Given the description of an element on the screen output the (x, y) to click on. 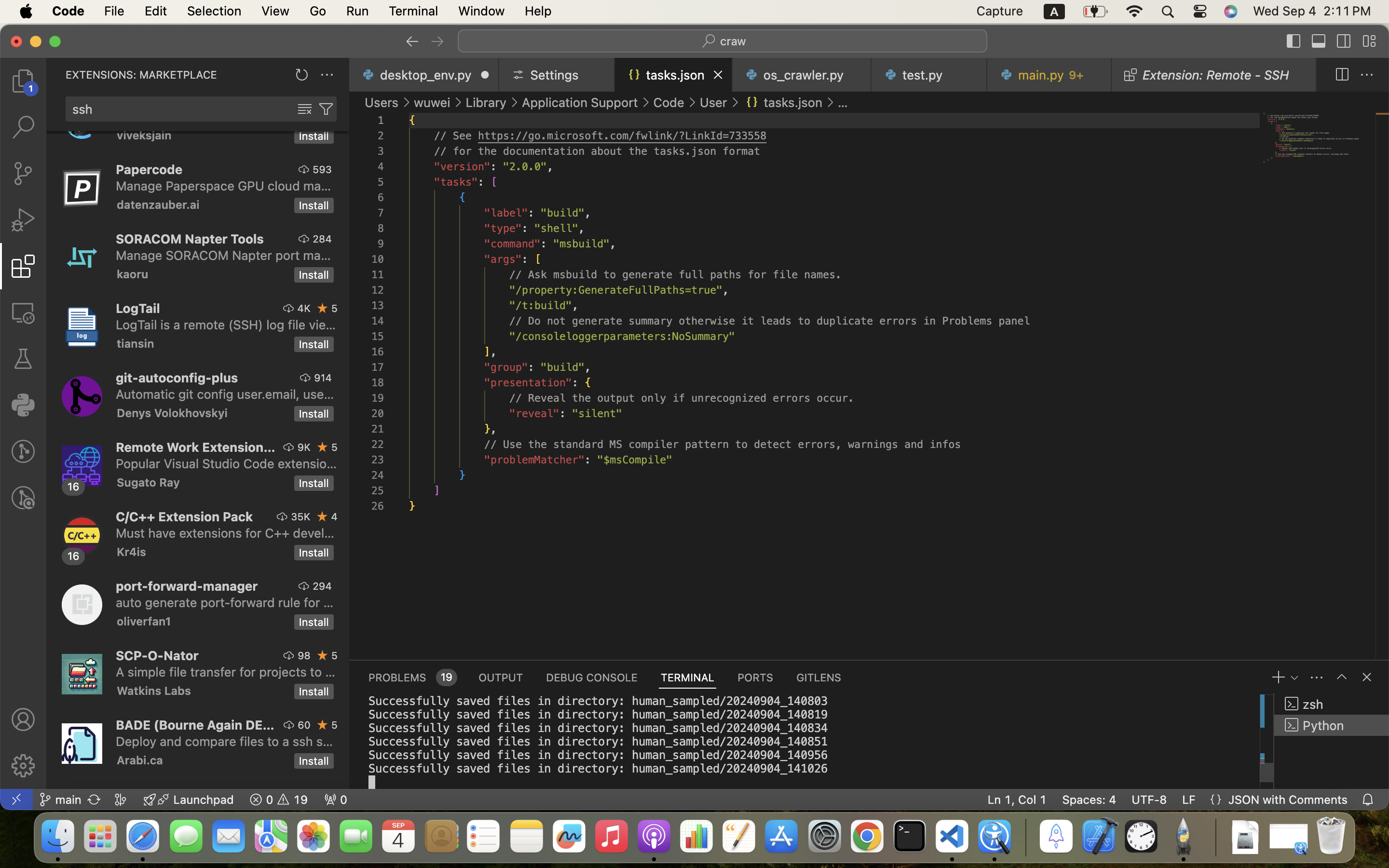
 Element type: AXStaticText (406, 101)
16 Element type: AXStaticText (73, 555)
Arabi.ca Element type: AXStaticText (139, 759)
 Element type: AXGroup (23, 312)
Code Element type: AXGroup (668, 101)
